Given the description of an element on the screen output the (x, y) to click on. 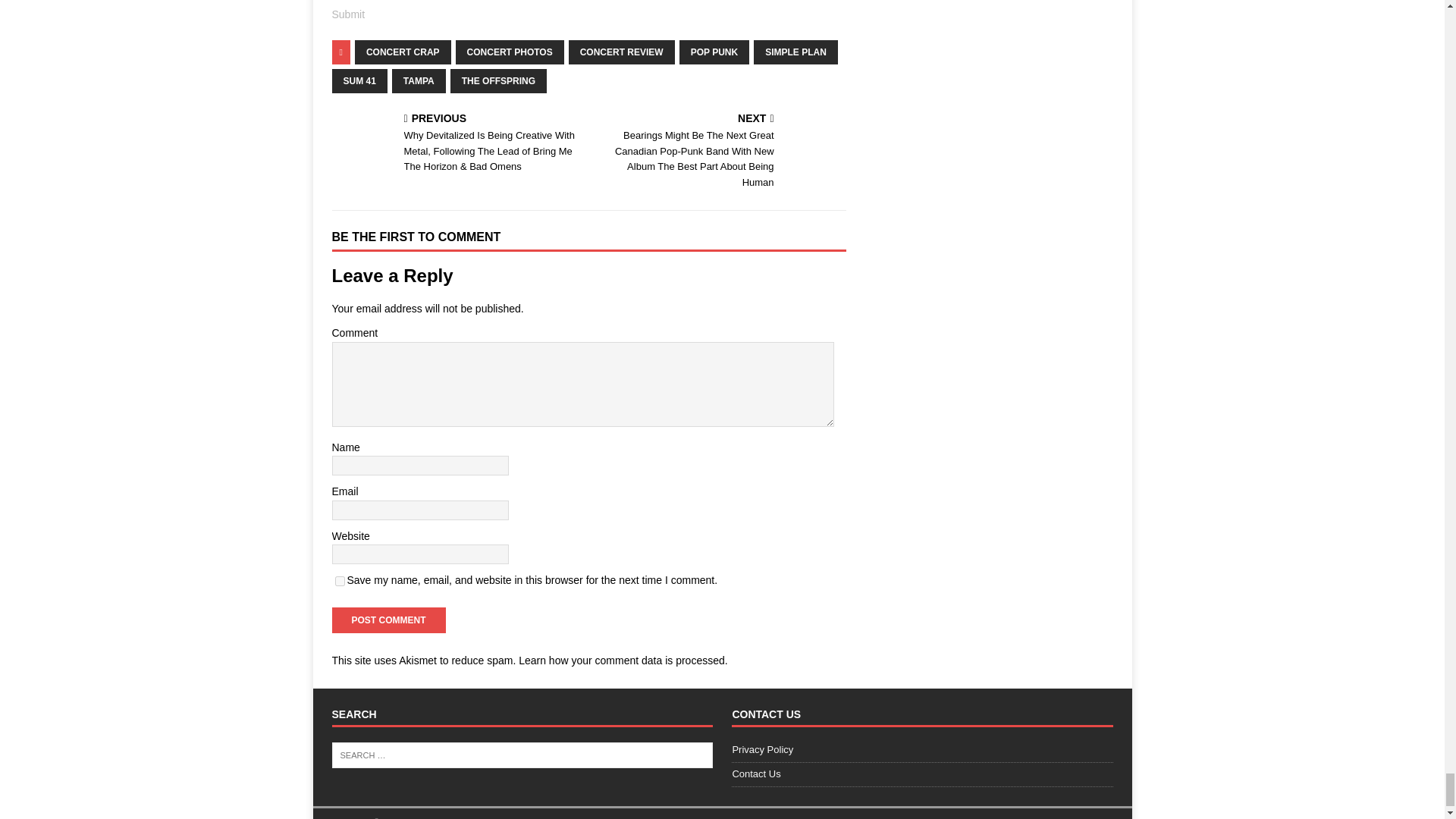
yes (339, 581)
Post Comment (388, 620)
